Given the description of an element on the screen output the (x, y) to click on. 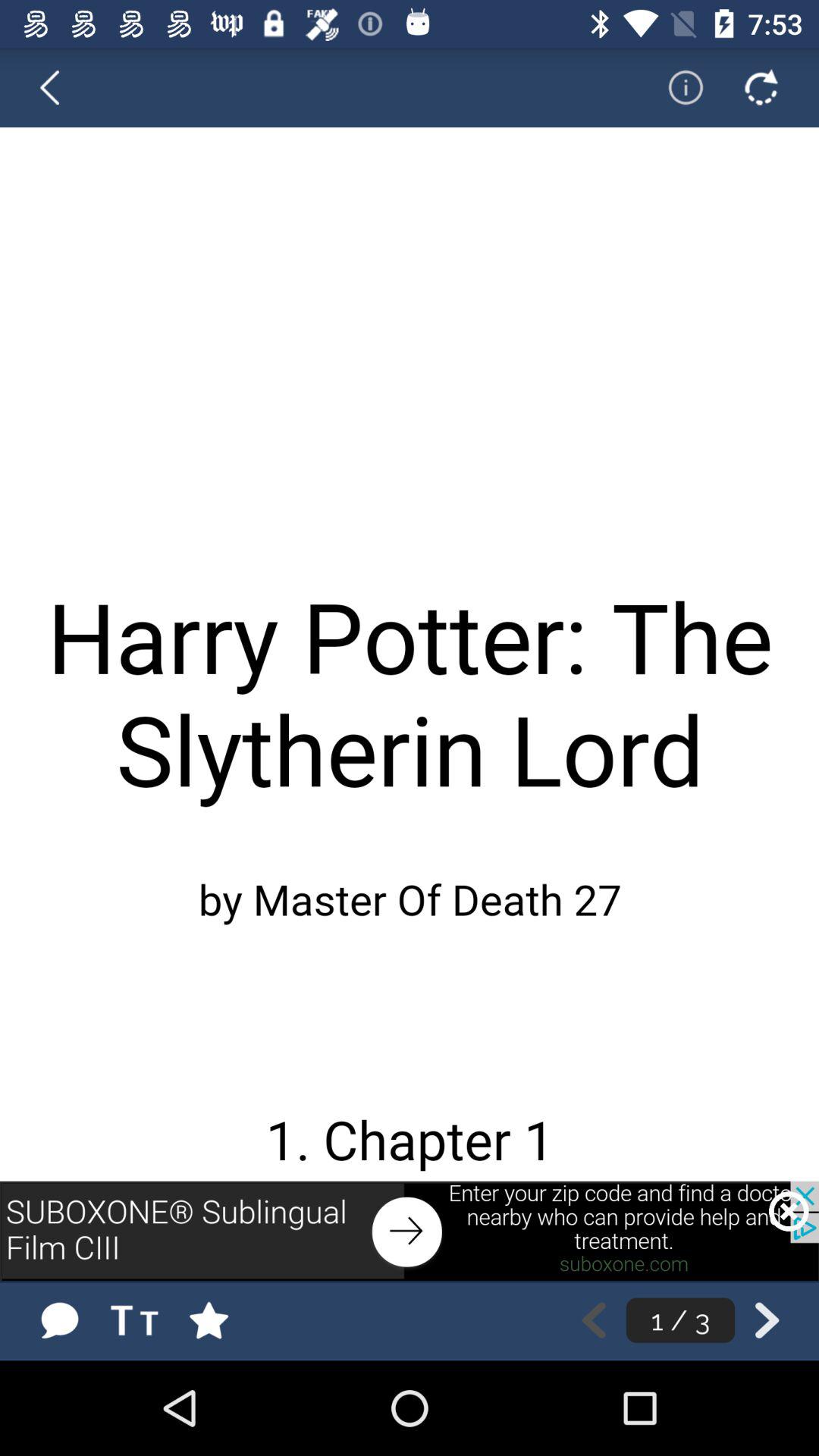
notification option (675, 87)
